Given the description of an element on the screen output the (x, y) to click on. 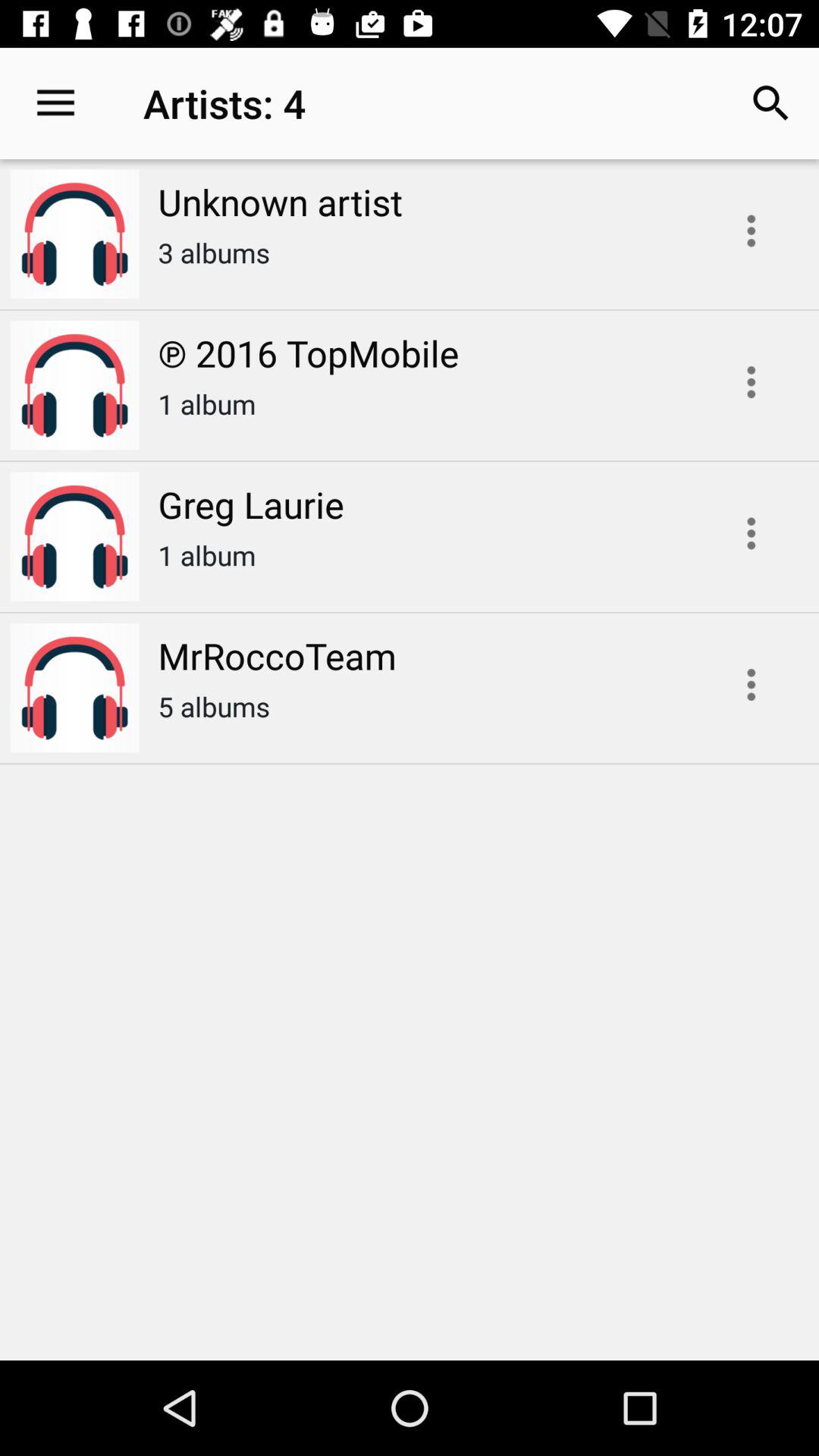
turn on icon next to the unknown artist (55, 103)
